Given the description of an element on the screen output the (x, y) to click on. 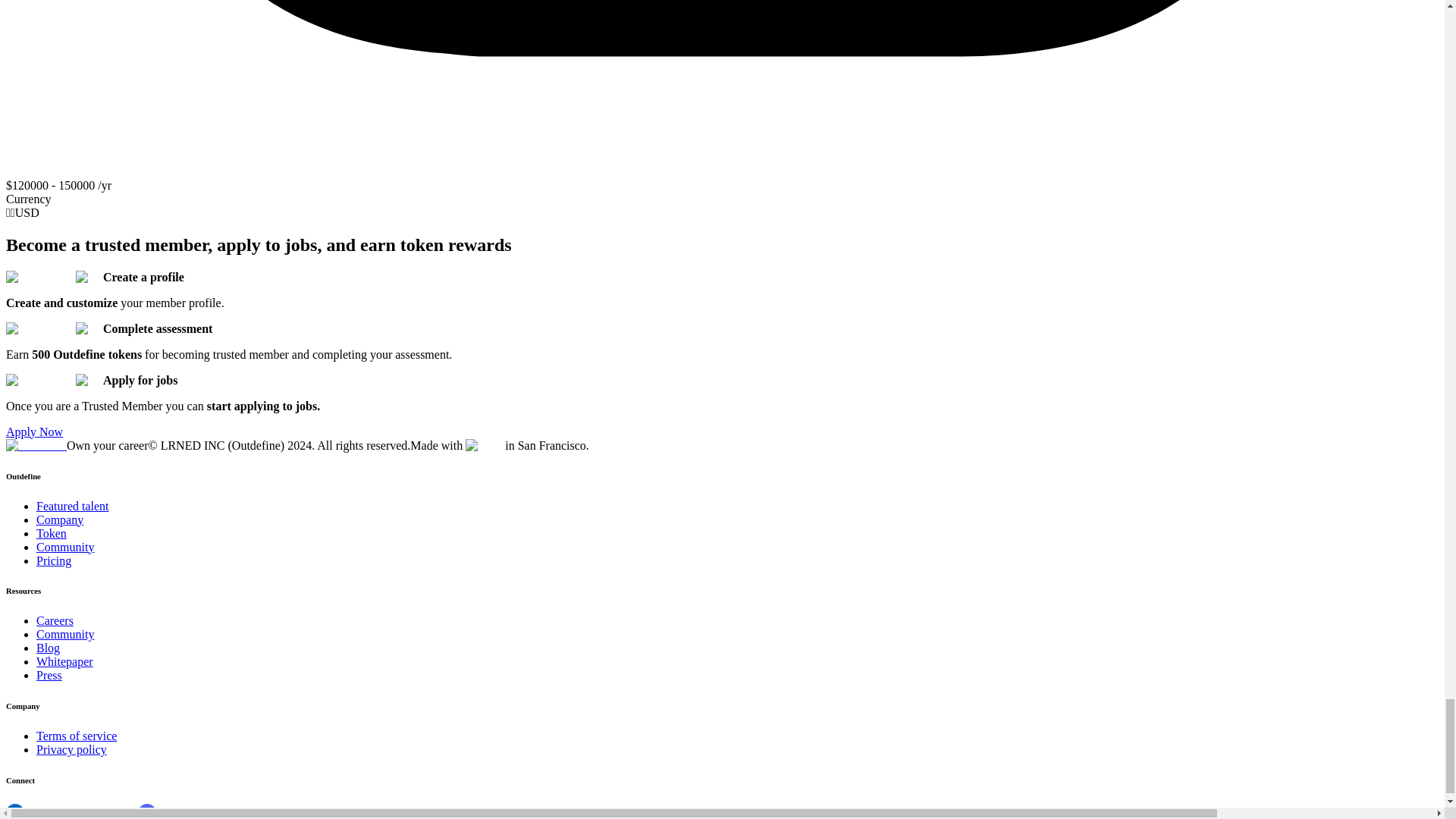
Blog (47, 647)
Company (59, 519)
Terms of service (76, 735)
Community (65, 546)
Whitepaper (64, 661)
Press (49, 675)
Featured talent (72, 505)
Community (65, 634)
Privacy policy (71, 748)
Apply Now (33, 431)
